Given the description of an element on the screen output the (x, y) to click on. 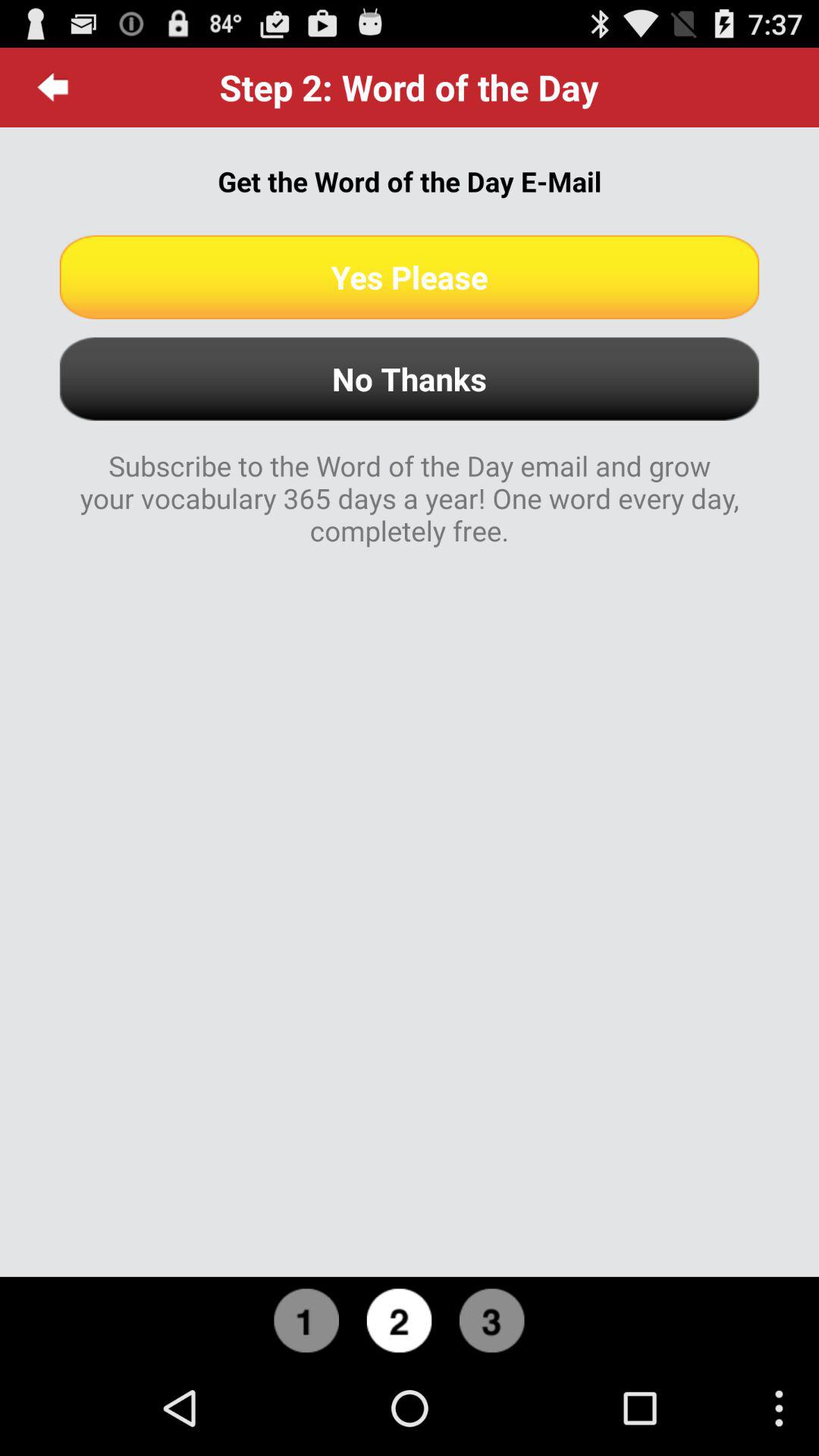
turn on yes please (409, 277)
